Given the description of an element on the screen output the (x, y) to click on. 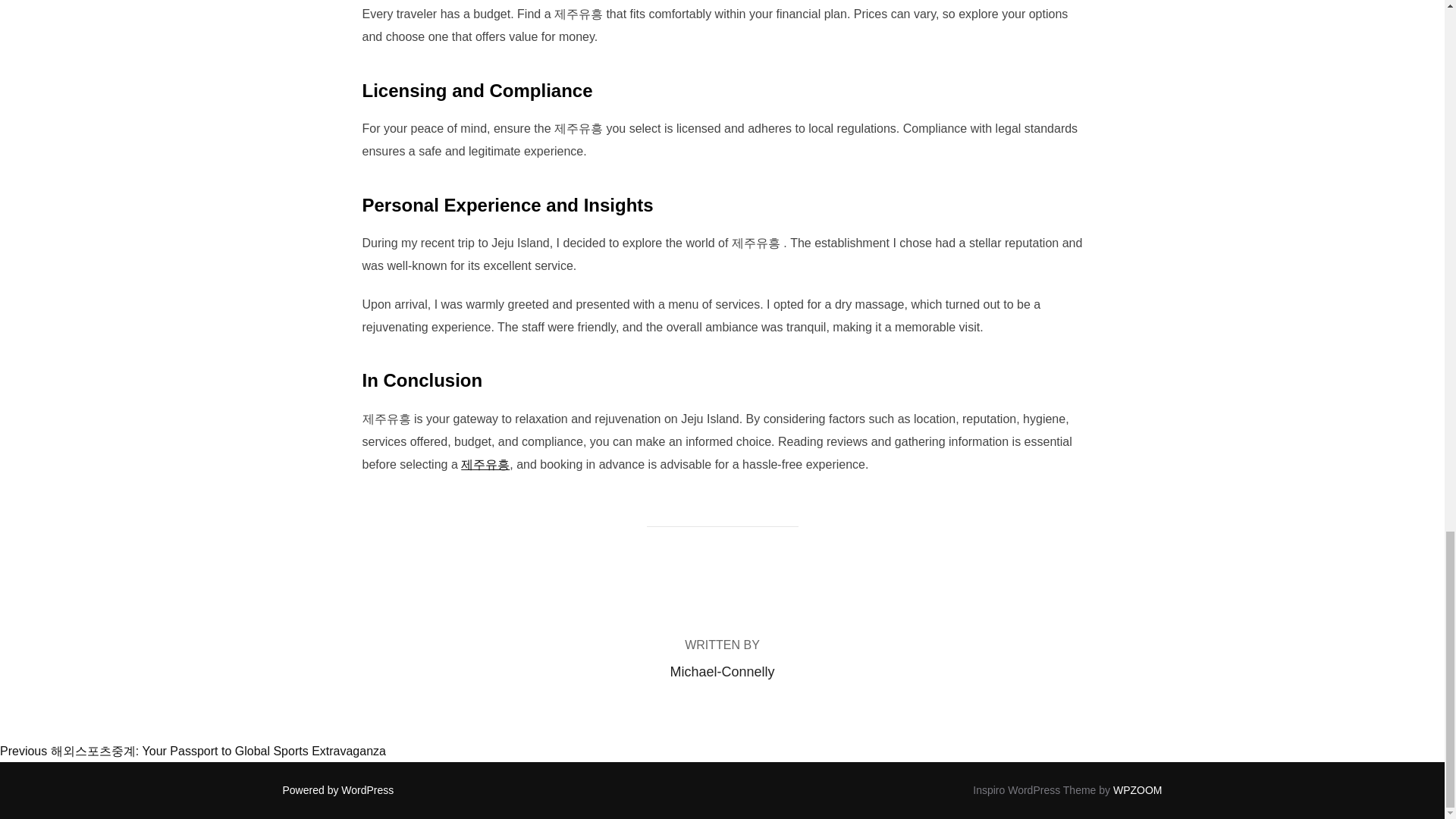
Posts by Michael-Connelly (721, 671)
Michael-Connelly (721, 671)
WPZOOM (1137, 789)
Powered by WordPress (337, 789)
